Given the description of an element on the screen output the (x, y) to click on. 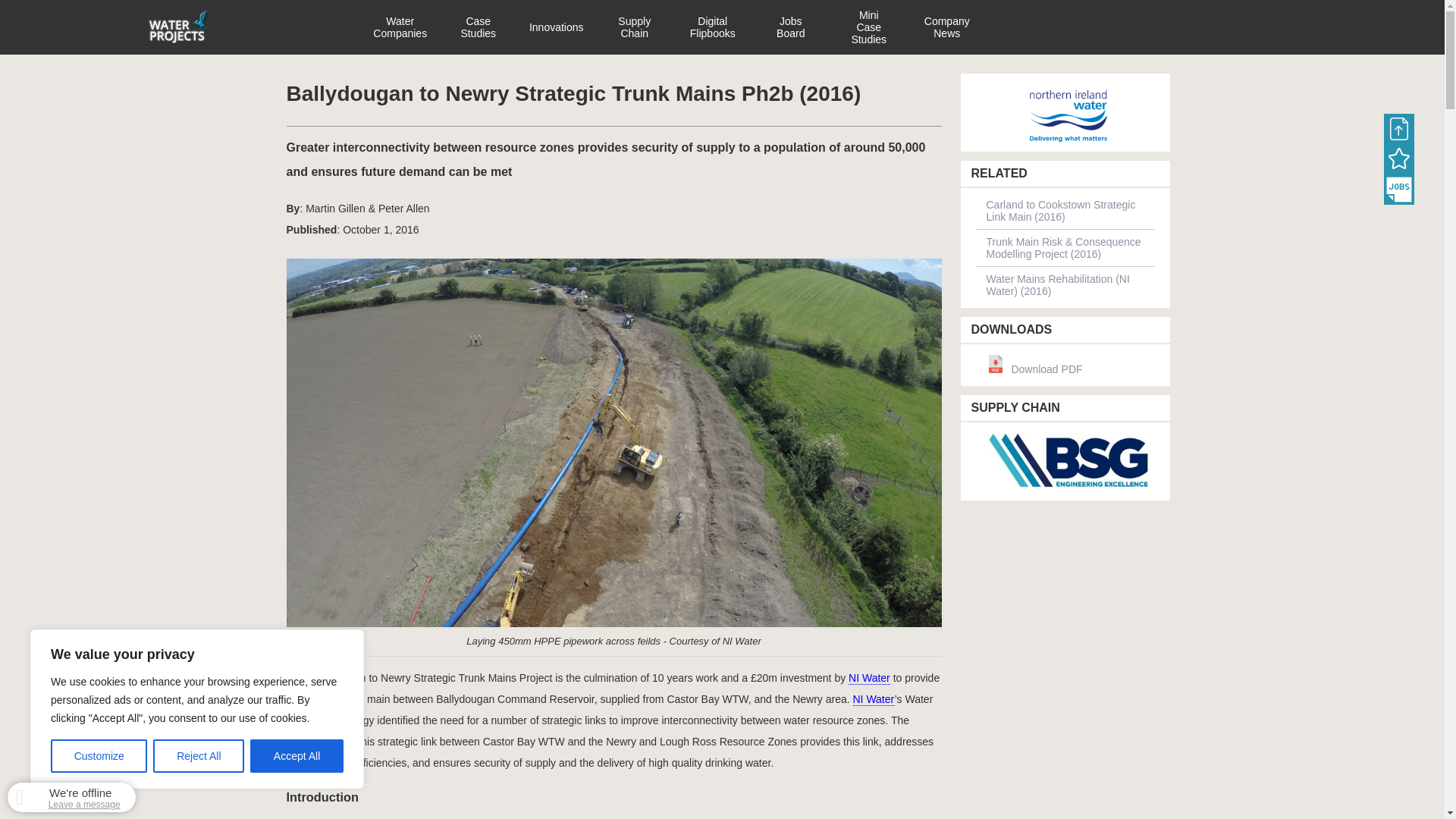
BSG Civil Engineering Ltd (1064, 461)
Accept All (296, 756)
Become a Featured Company (1398, 159)
Digital Flipbooks (712, 27)
Customize (98, 756)
Water Companies (399, 27)
Jobs Board (1398, 189)
Supply Chain (633, 27)
Reject All (198, 756)
Jobs Board (790, 27)
Innovations (556, 27)
Northern Ireland Water (1064, 116)
Case Studies (477, 27)
